Given the description of an element on the screen output the (x, y) to click on. 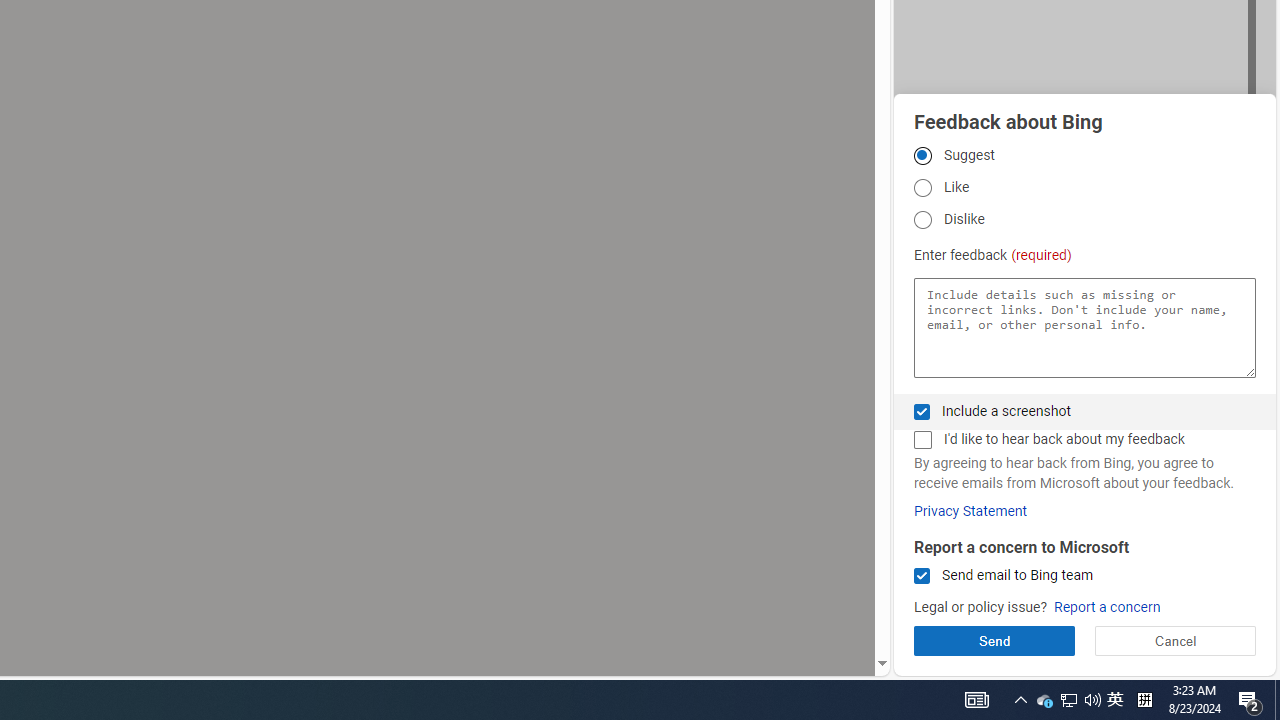
Report a concern (1106, 607)
Privacy Statement (970, 511)
Suggest (922, 155)
Include a screenshot (921, 411)
Cancel (1174, 640)
Like (922, 188)
Send (994, 640)
Send email to Bing team (921, 575)
I'd like to hear back about my feedback (922, 440)
